Given the description of an element on the screen output the (x, y) to click on. 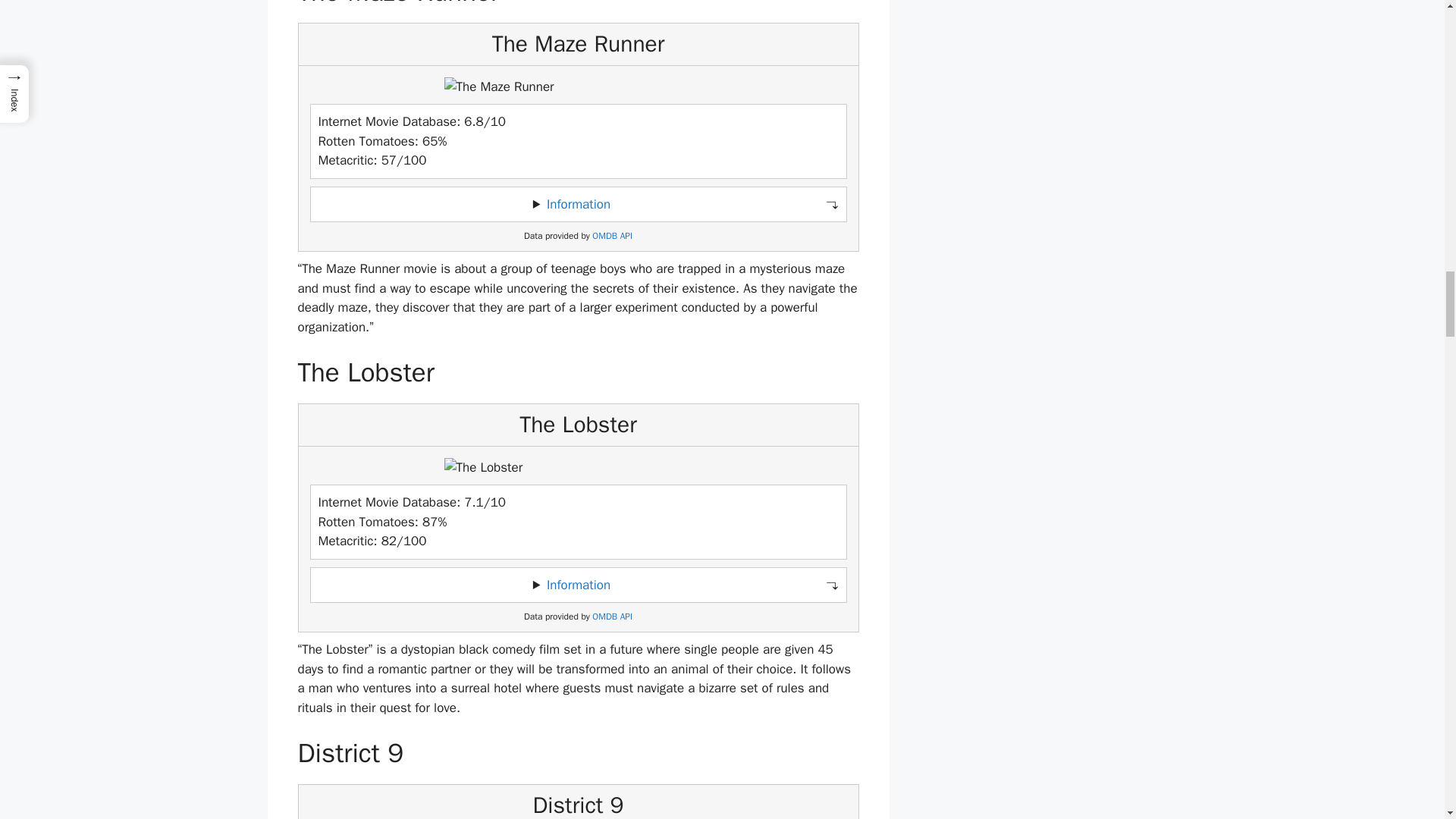
Information (578, 584)
Information (578, 204)
Open Movie Database API (611, 616)
Toggle information (578, 204)
OMDB API (611, 235)
Toggle information (578, 585)
OMDB API (611, 616)
Open Movie Database API (611, 235)
